Given the description of an element on the screen output the (x, y) to click on. 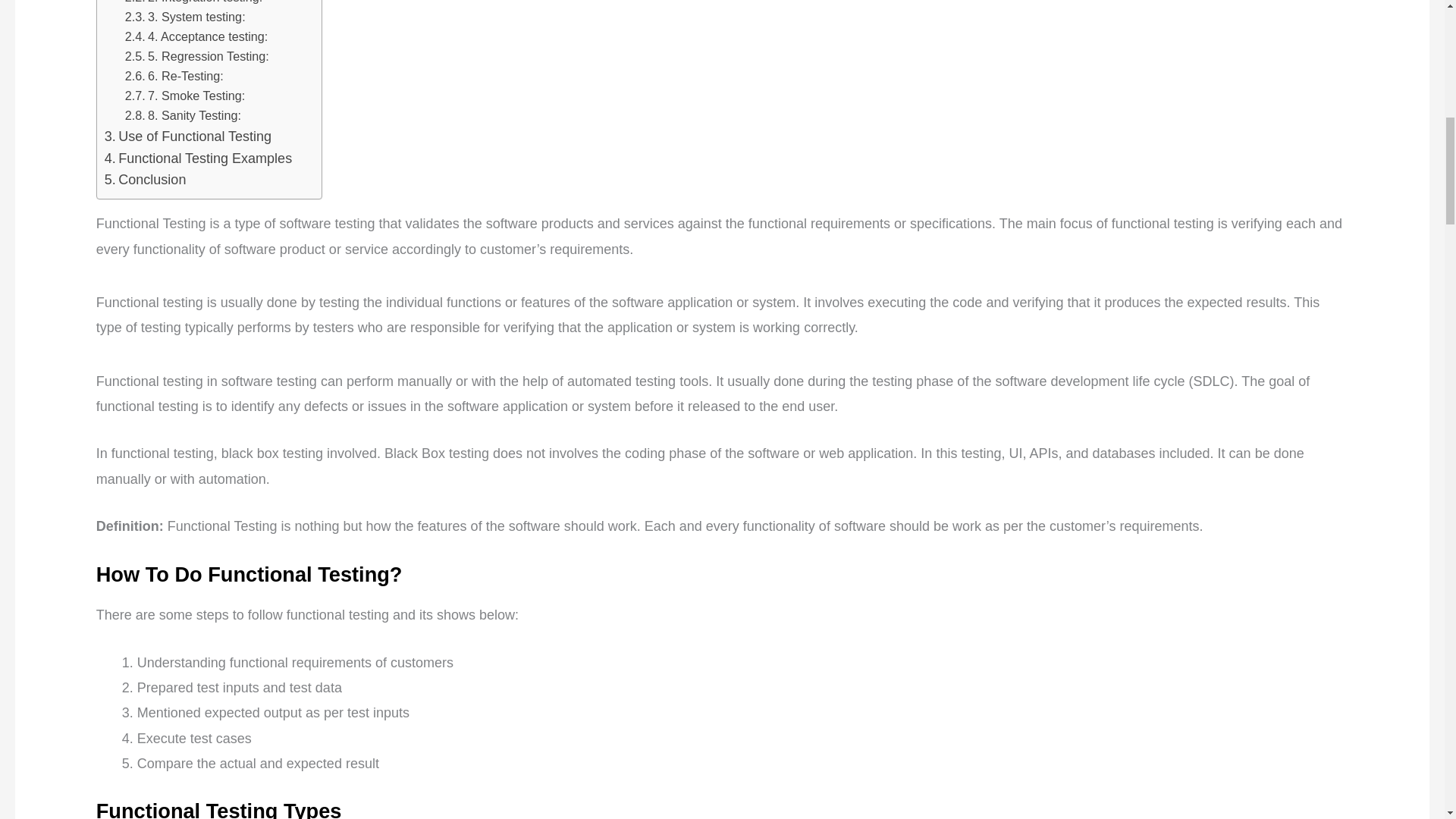
8. Sanity Testing: (183, 116)
6. Re-Testing: (174, 76)
3. System testing: (185, 17)
5. Regression Testing: (197, 56)
7. Smoke Testing: (185, 96)
4. Acceptance testing:  (196, 36)
Functional Testing Examples (198, 158)
Use of Functional Testing (187, 137)
3. System testing: (185, 17)
4. Acceptance testing: (196, 36)
6. Re-Testing: (174, 76)
5. Regression Testing: (197, 56)
2. Integration testing: (193, 3)
2. Integration testing:  (193, 3)
7. Smoke Testing: (185, 96)
